Given the description of an element on the screen output the (x, y) to click on. 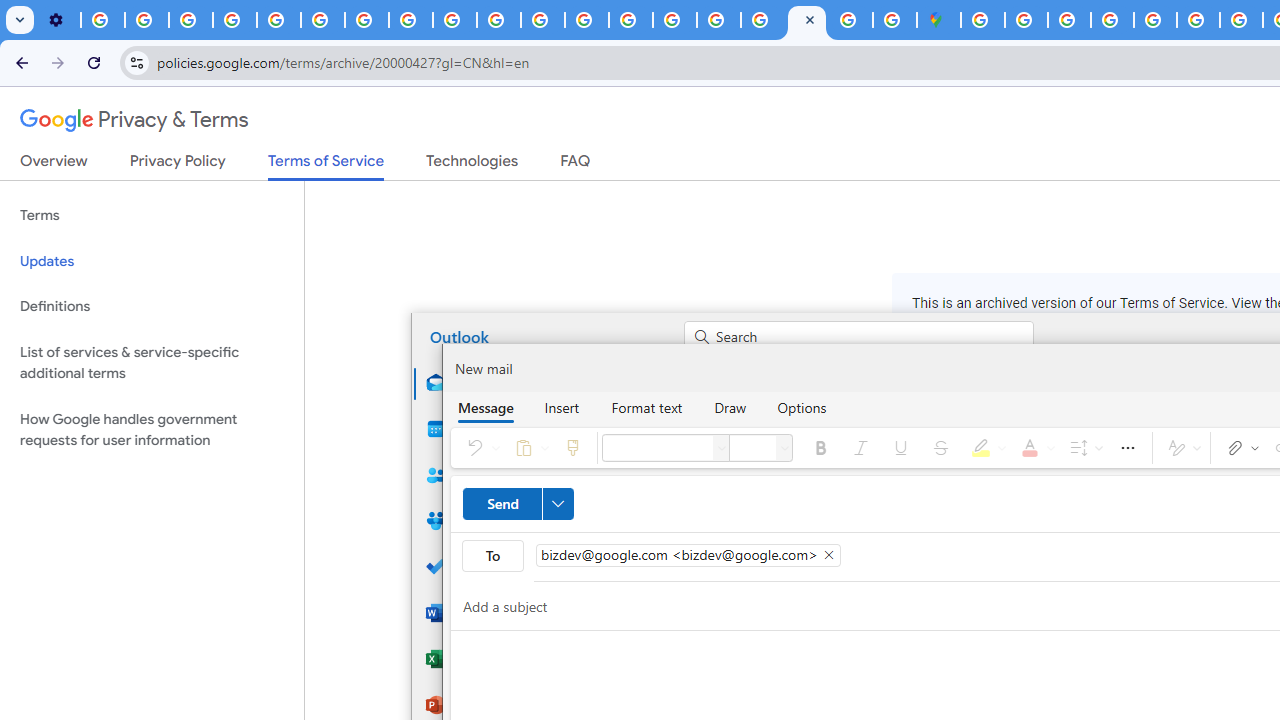
Attach file (1239, 447)
Underline (900, 447)
bizdev@google.com <bizdev@google.com> (688, 554)
Insert (561, 407)
Draw (729, 407)
Format text (646, 407)
Options (801, 407)
Italic (860, 447)
Styles (1181, 447)
To (492, 555)
Strikethrough (941, 447)
Font size (752, 448)
Font size (784, 448)
Paste (528, 447)
Font (657, 448)
